Given the description of an element on the screen output the (x, y) to click on. 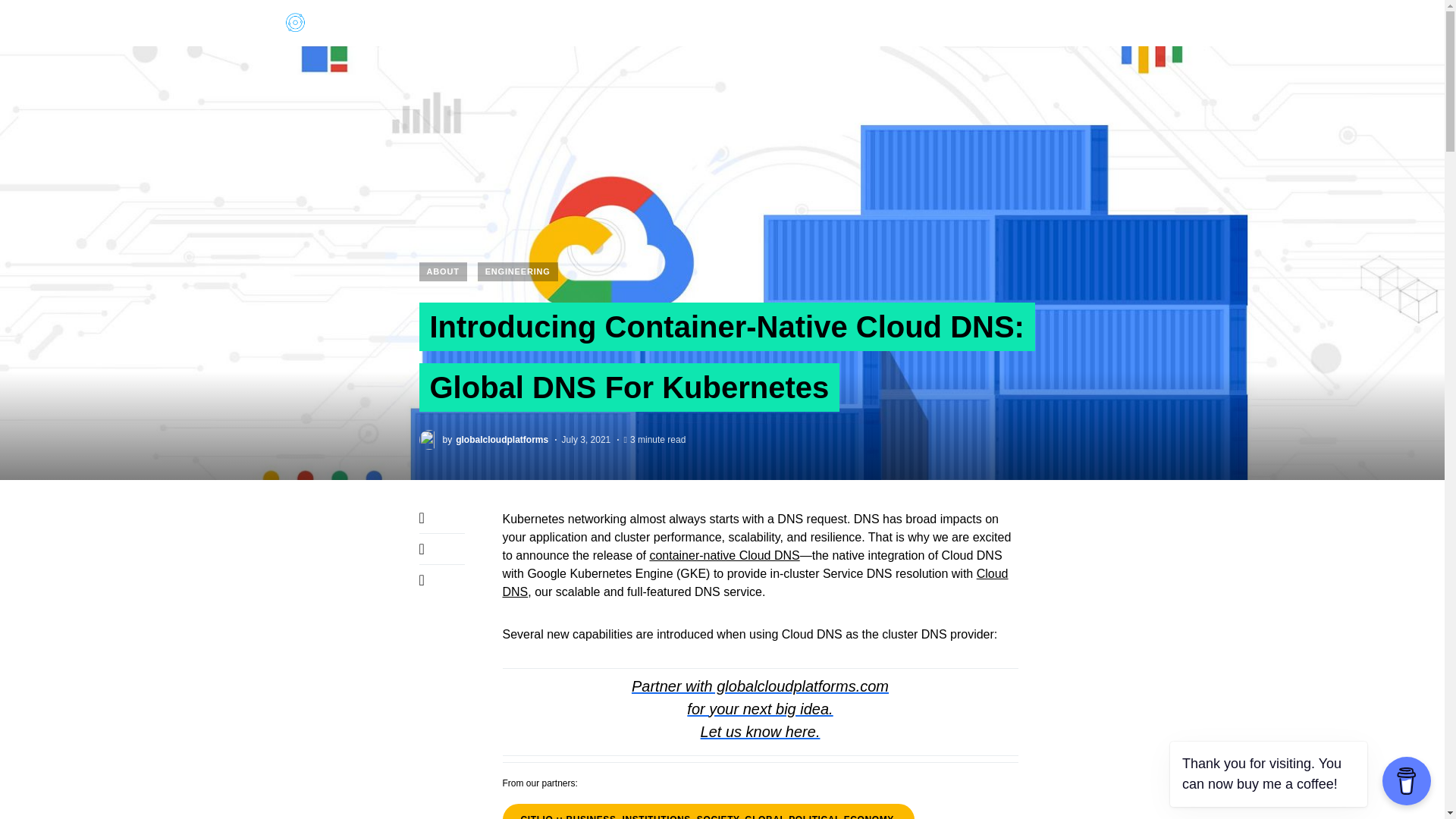
PRACTICES (932, 22)
ARCHITECTURE (615, 22)
View all posts by globalcloudplatforms (483, 438)
LEARNING (853, 22)
PLATFORMS (518, 22)
ABOUT US (1008, 22)
ENGINEERING (717, 22)
